Given the description of an element on the screen output the (x, y) to click on. 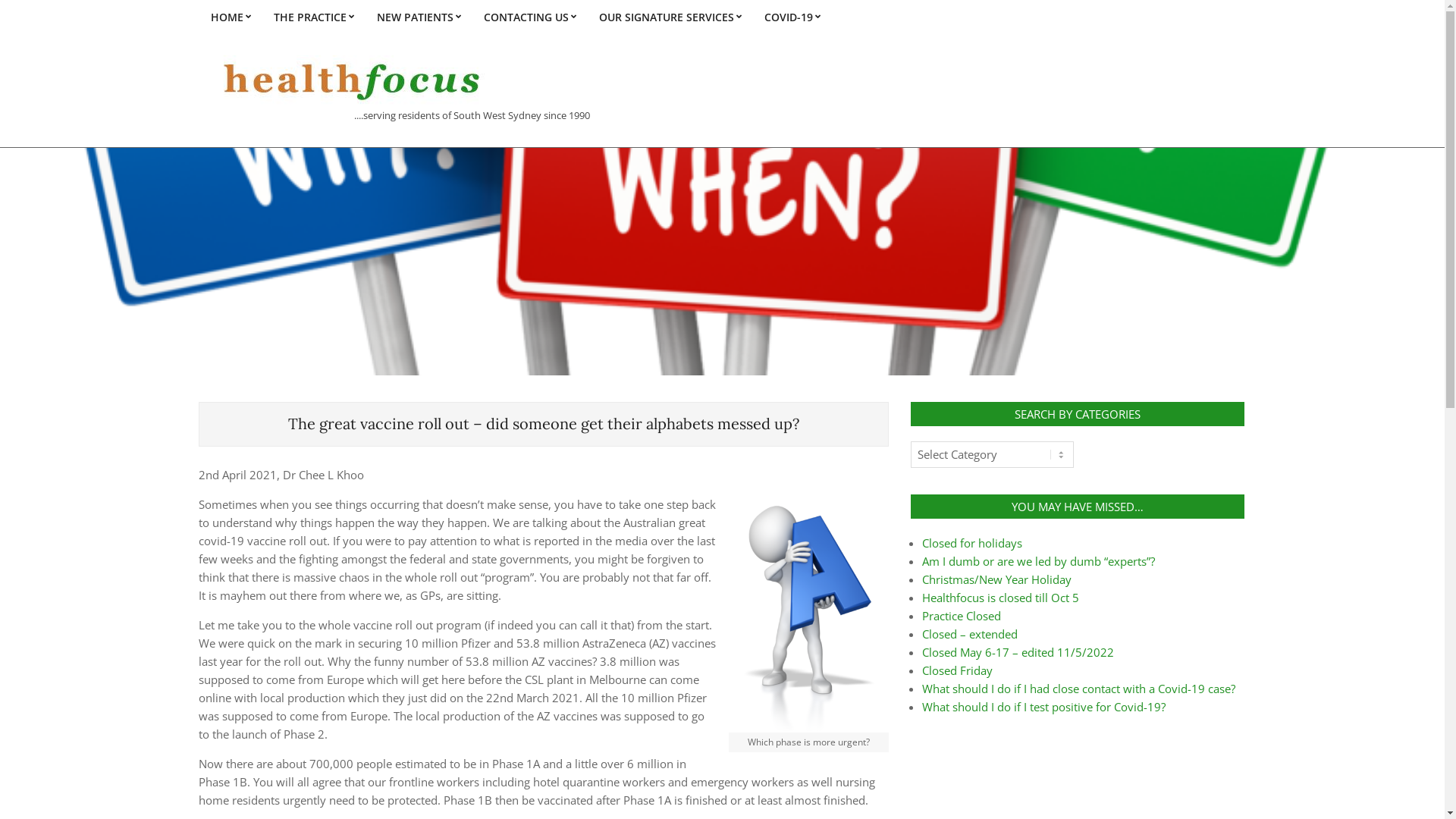
Closed Friday Element type: text (957, 669)
OUR SIGNATURE SERVICES Element type: text (669, 16)
THE PRACTICE Element type: text (313, 16)
NEW PATIENTS Element type: text (418, 16)
Practice Closed Element type: text (961, 615)
COVID-19 Element type: text (791, 16)
Christmas/New Year Holiday Element type: text (996, 578)
What should I do if I test positive for Covid-19? Element type: text (1043, 706)
Closed for holidays Element type: text (972, 542)
CONTACTING US Element type: text (528, 16)
Healthfocus is closed till Oct 5 Element type: text (1000, 597)
HOME Element type: text (229, 16)
